Given the description of an element on the screen output the (x, y) to click on. 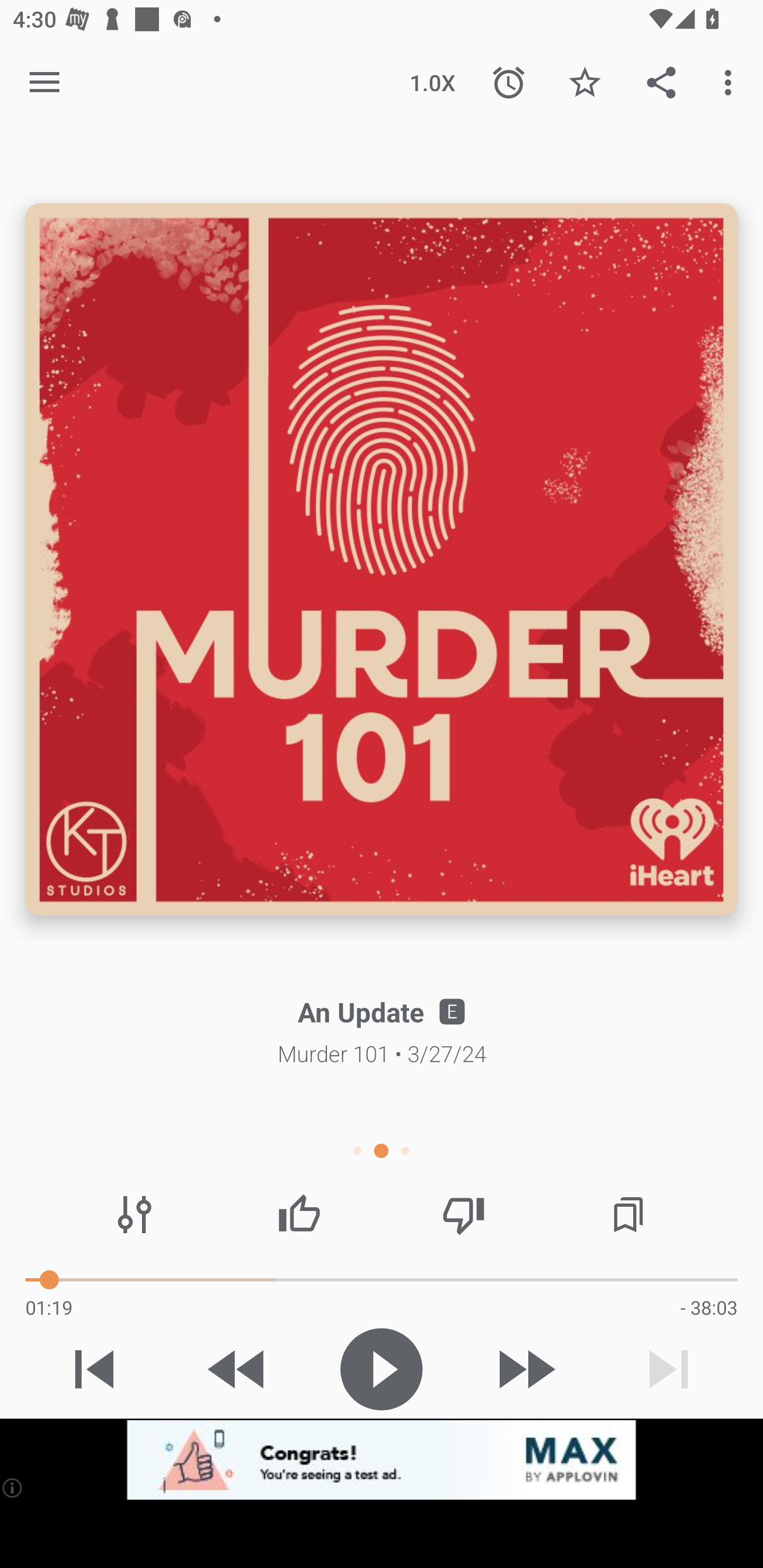
Open navigation sidebar (44, 82)
1.0X (432, 81)
Sleep Timer (508, 81)
Favorite (585, 81)
Share (661, 81)
More options (731, 81)
Episode description (381, 559)
Audio effects (134, 1214)
Thumbs up (298, 1214)
Thumbs down (463, 1214)
Chapters / Bookmarks (628, 1214)
- 38:03 (708, 1306)
Previous track (94, 1369)
Skip 15s backward (237, 1369)
Play / Pause (381, 1369)
Skip 30s forward (525, 1369)
Next track (668, 1369)
app-monetization (381, 1459)
(i) (11, 1487)
